Given the description of an element on the screen output the (x, y) to click on. 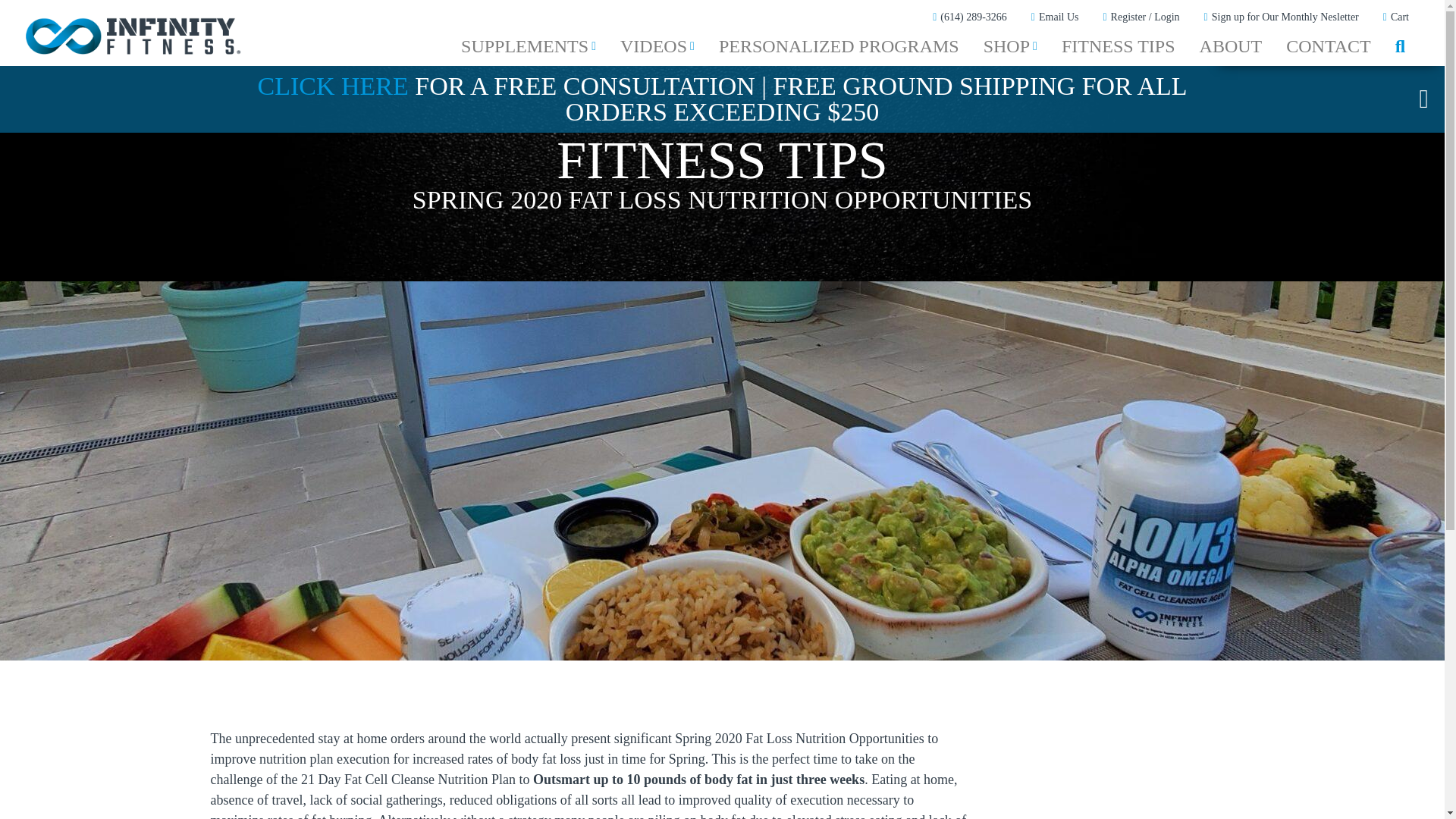
Email Us (1054, 16)
Fitness Tips (1118, 46)
SUPPLEMENTS (528, 46)
Supplements (528, 46)
CONTACT (1327, 46)
PERSONALIZED PROGRAMS (838, 46)
Personalized Programs (838, 46)
VIDEOS (657, 46)
FITNESS TIPS (1118, 46)
ABOUT (1231, 46)
Cart (1396, 16)
CLICK HERE (332, 85)
Videos (657, 46)
Shop (1010, 46)
Sign up for Our Monthly Nesletter (1281, 17)
